Given the description of an element on the screen output the (x, y) to click on. 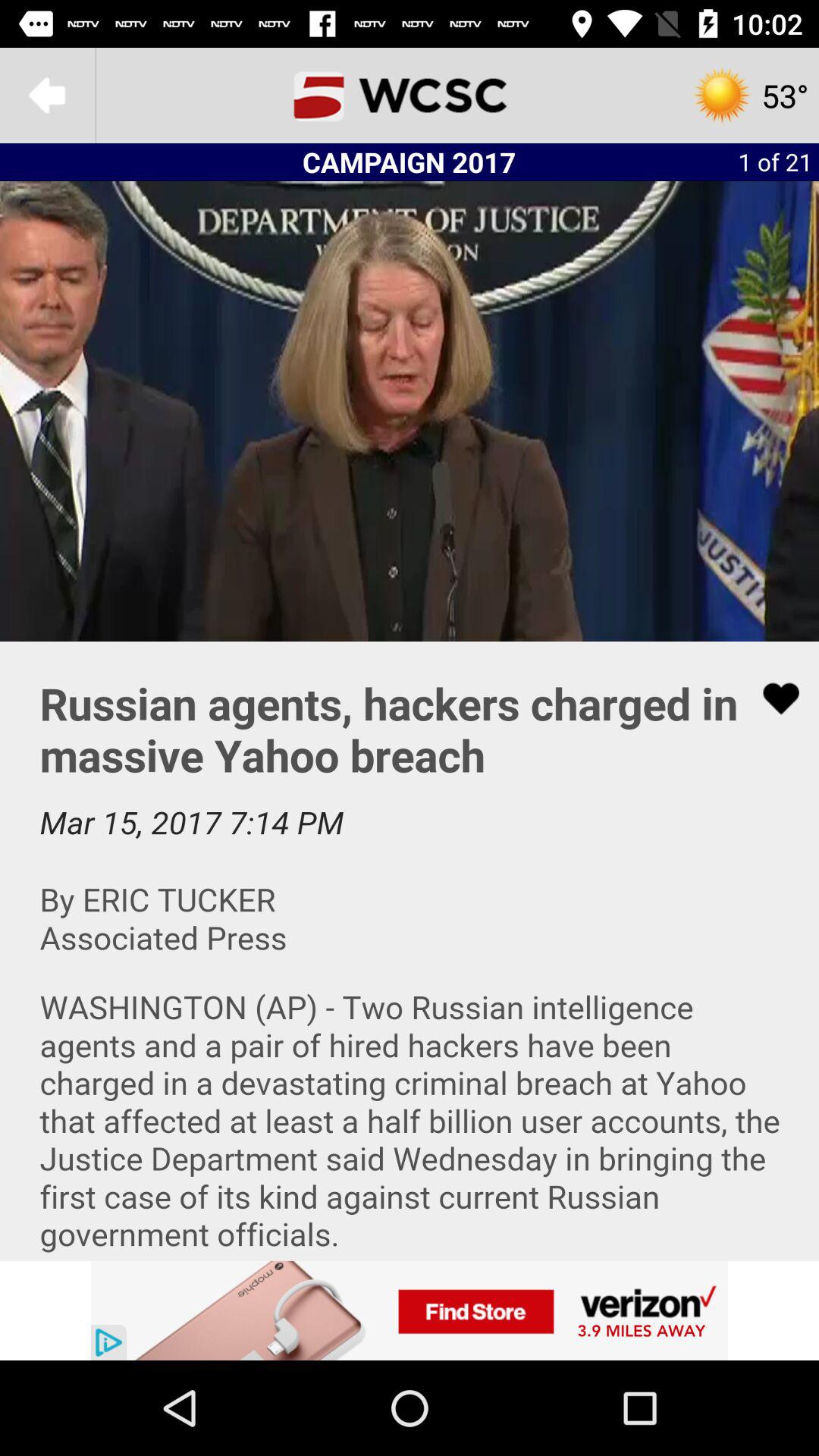
advertising page (409, 1310)
